Given the description of an element on the screen output the (x, y) to click on. 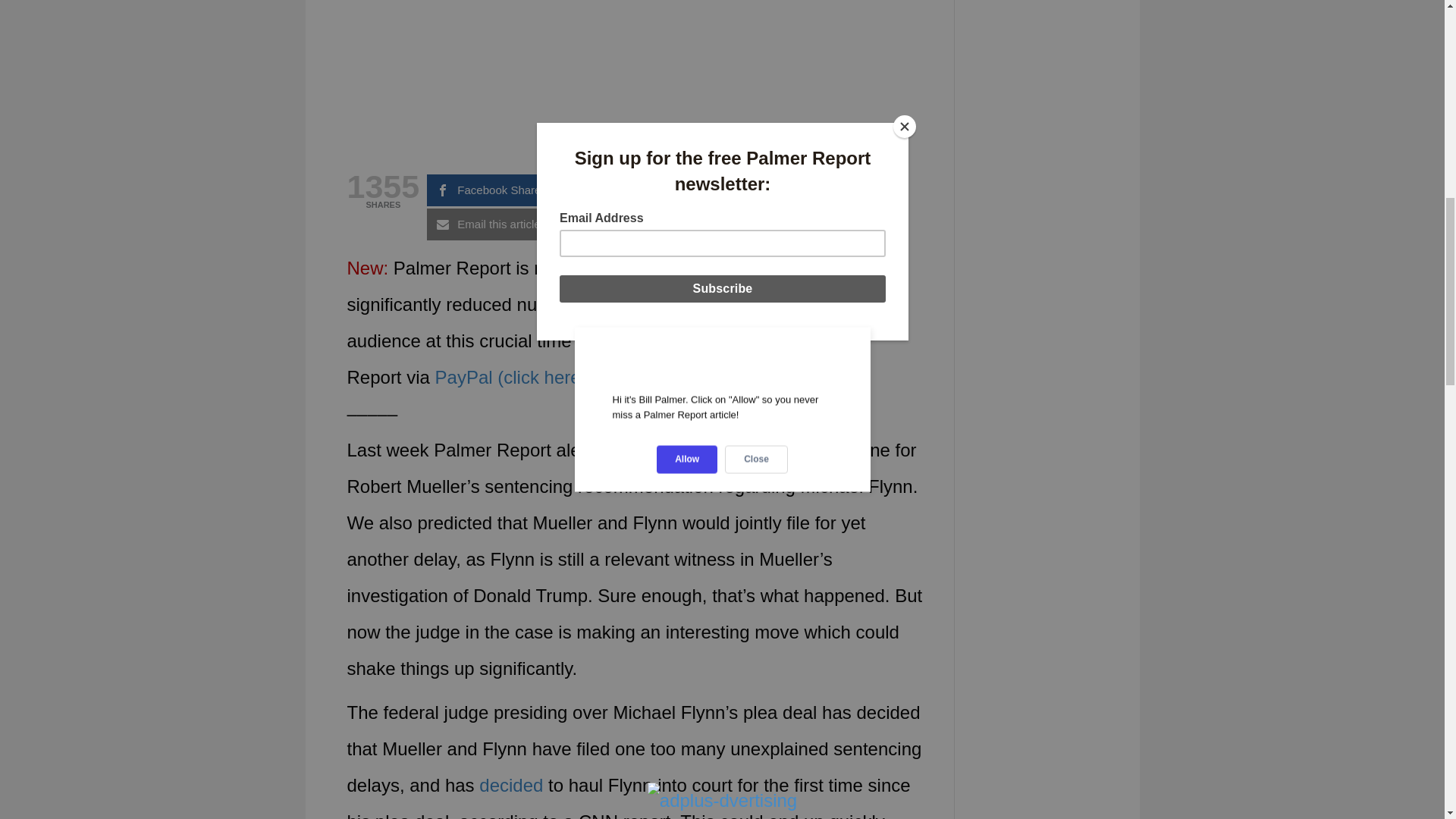
Reddit Share (767, 190)
X Share (630, 190)
LinkedIn Share (767, 224)
Email this article (493, 224)
Print Article (630, 224)
decided (511, 784)
Facebook Share (493, 190)
